Given the description of an element on the screen output the (x, y) to click on. 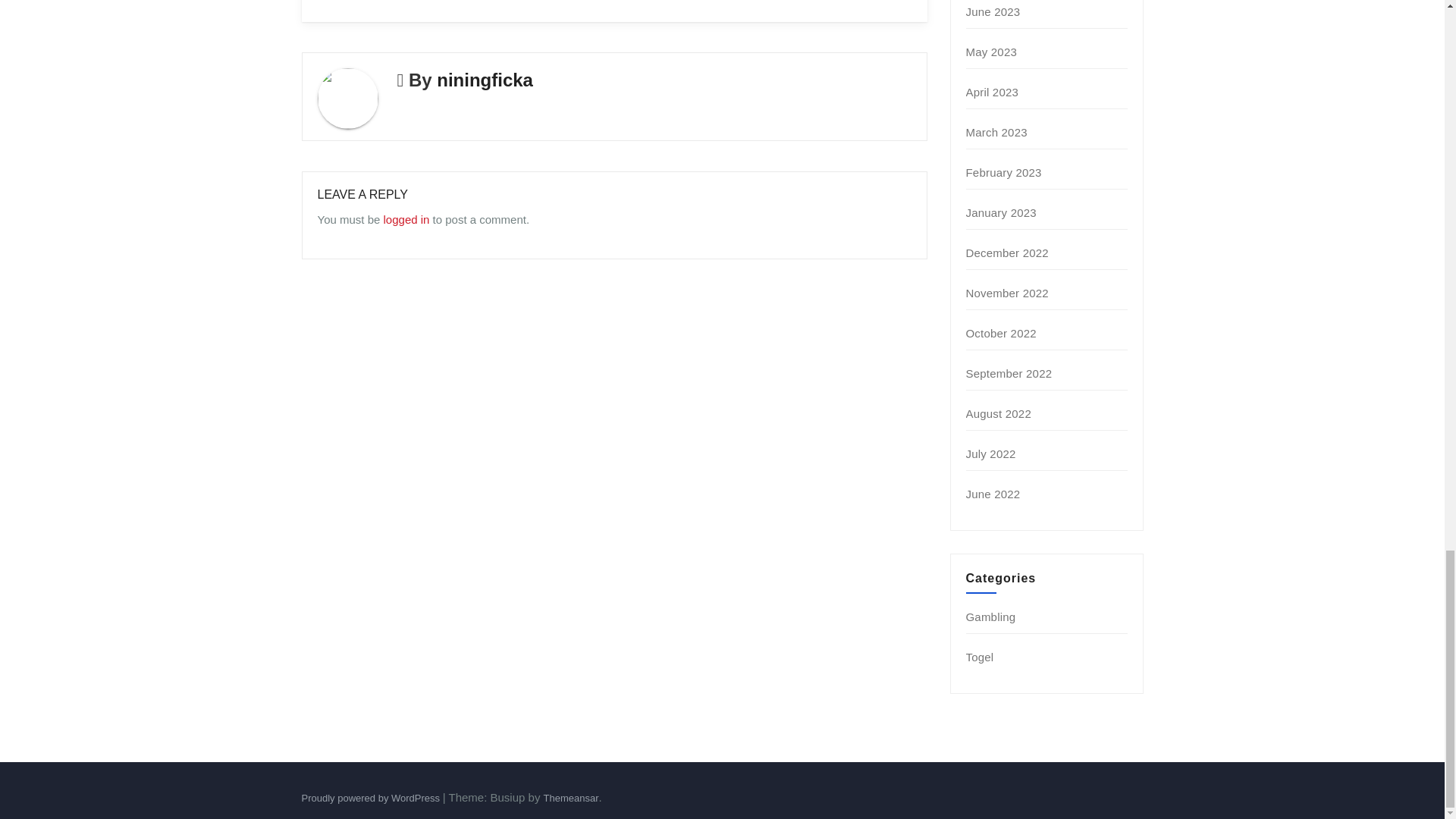
May 2023 (991, 51)
niningficka (484, 79)
June 2023 (993, 11)
logged in (406, 219)
